Given the description of an element on the screen output the (x, y) to click on. 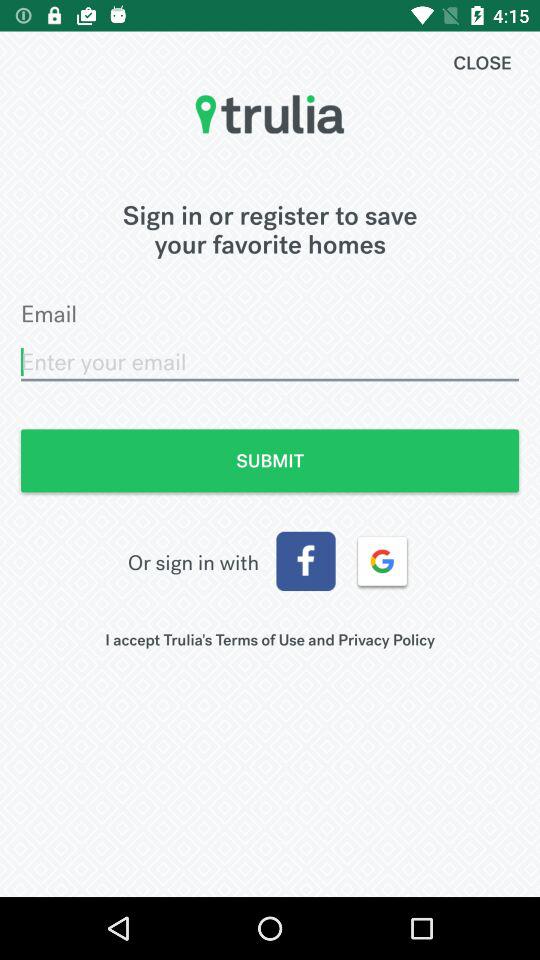
open item above the i accept trulia (305, 561)
